Given the description of an element on the screen output the (x, y) to click on. 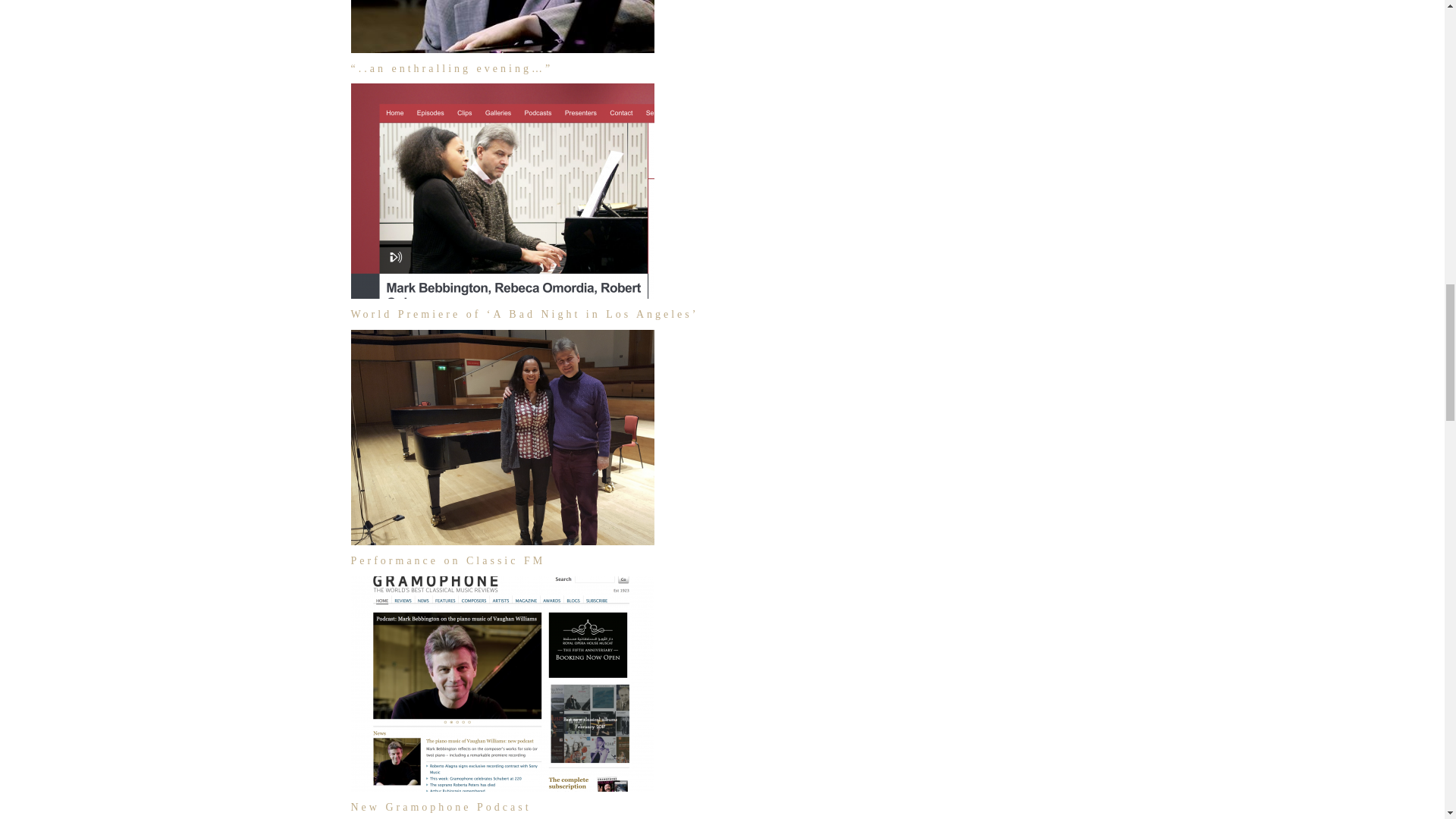
Performance on Classic FM (447, 560)
New Gramophone Podcast (440, 806)
